Given the description of an element on the screen output the (x, y) to click on. 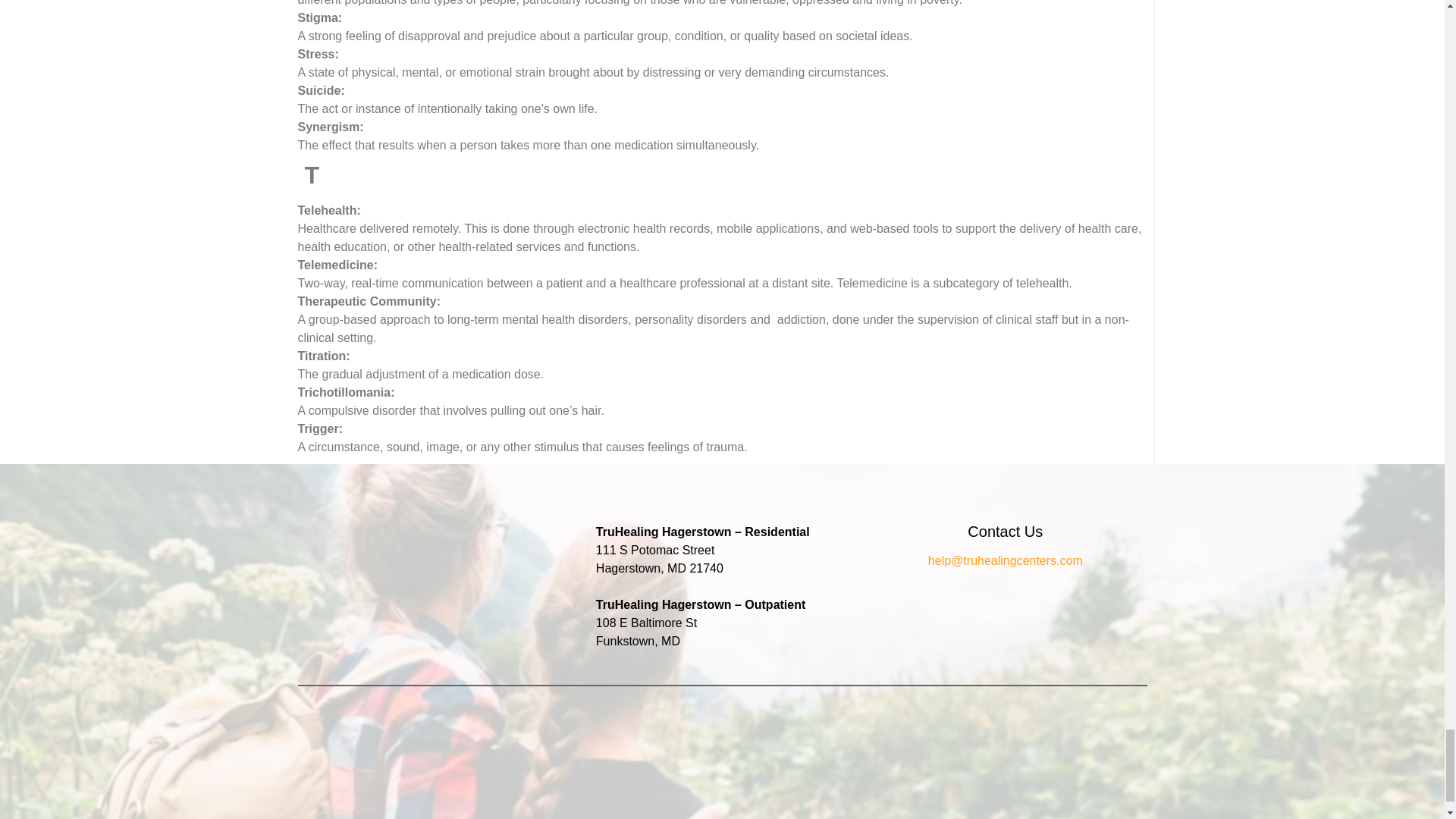
logo-bbb (880, 766)
